Given the description of an element on the screen output the (x, y) to click on. 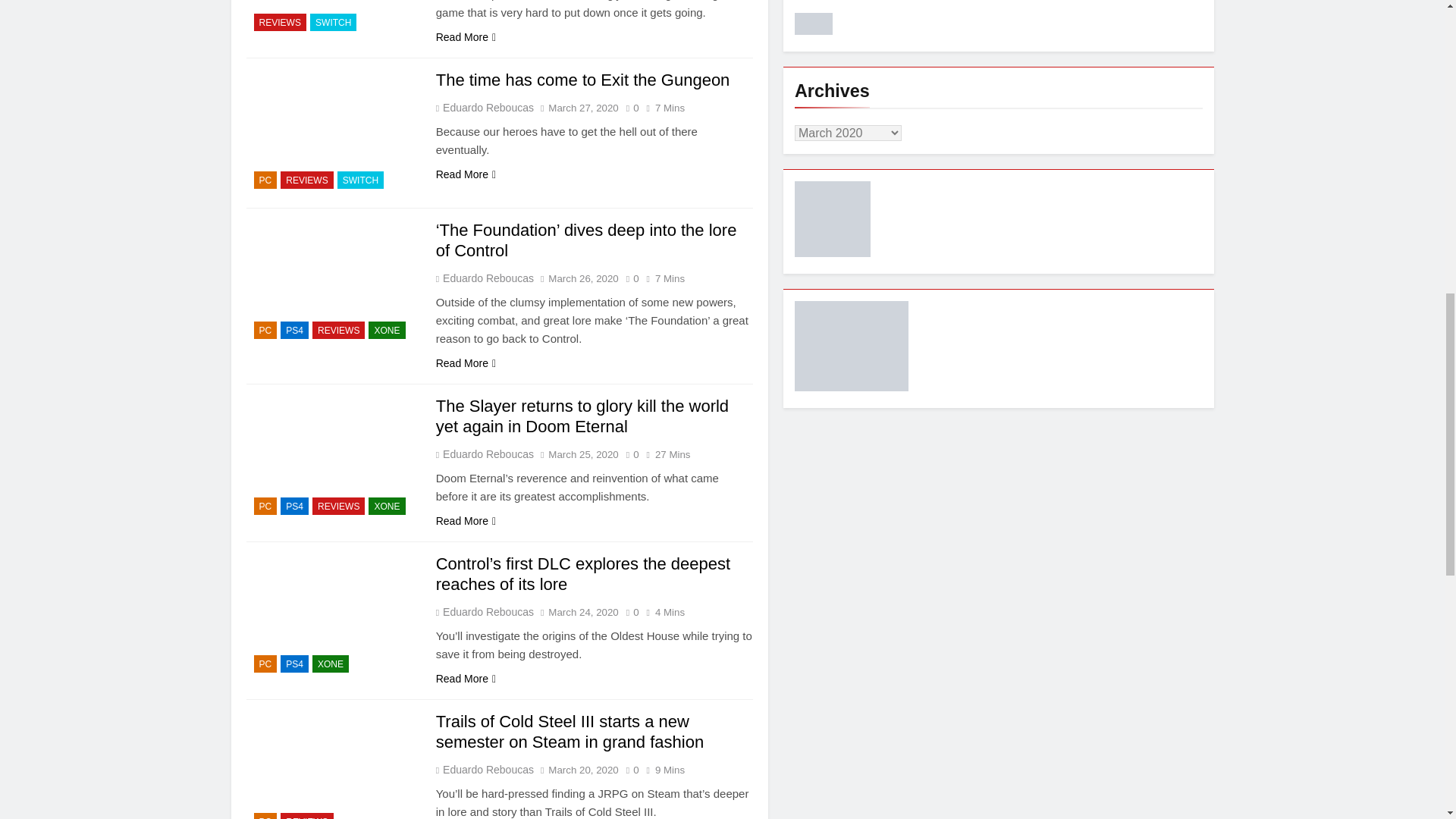
The time has come to Exit the Gungeon (582, 79)
REVIEWS (279, 22)
